Given the description of an element on the screen output the (x, y) to click on. 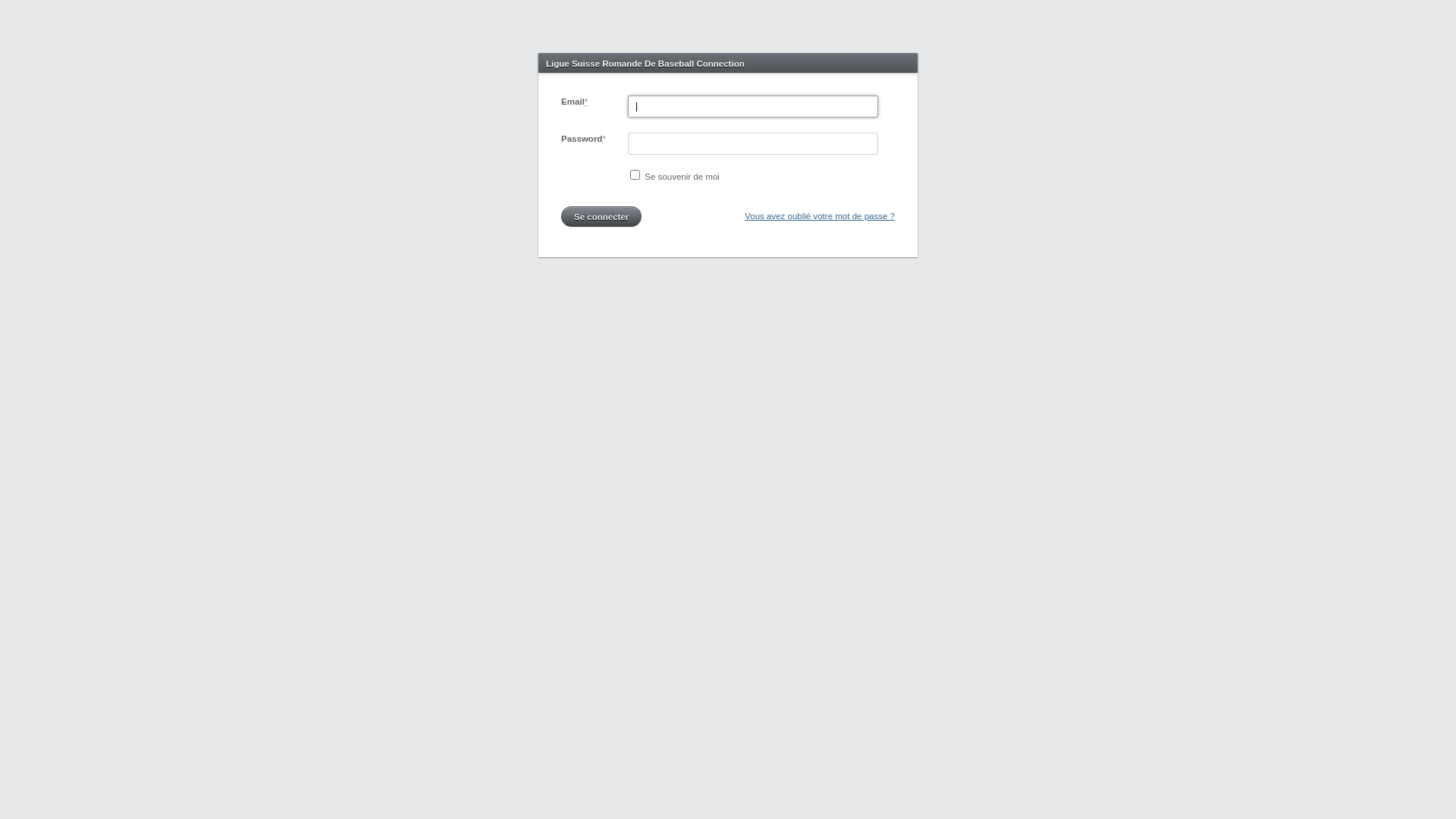
Se connecter Element type: text (601, 216)
